Given the description of an element on the screen output the (x, y) to click on. 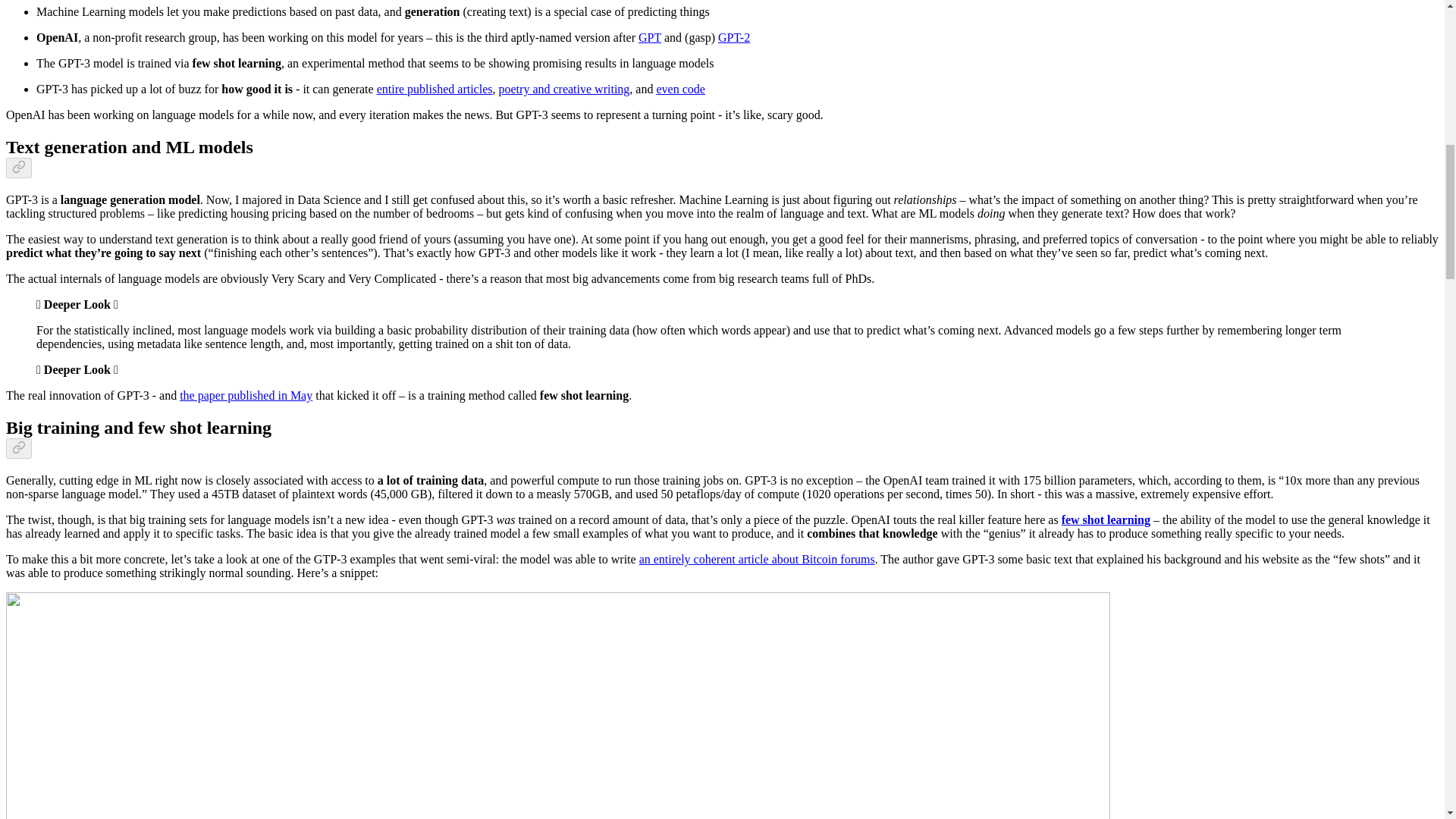
an entirely coherent article about Bitcoin forums (757, 558)
even code (680, 88)
the paper published in May (246, 395)
GPT-2 (733, 37)
few shot learning (1105, 519)
entire published articles (435, 88)
poetry and creative writing (564, 88)
GPT (650, 37)
